Given the description of an element on the screen output the (x, y) to click on. 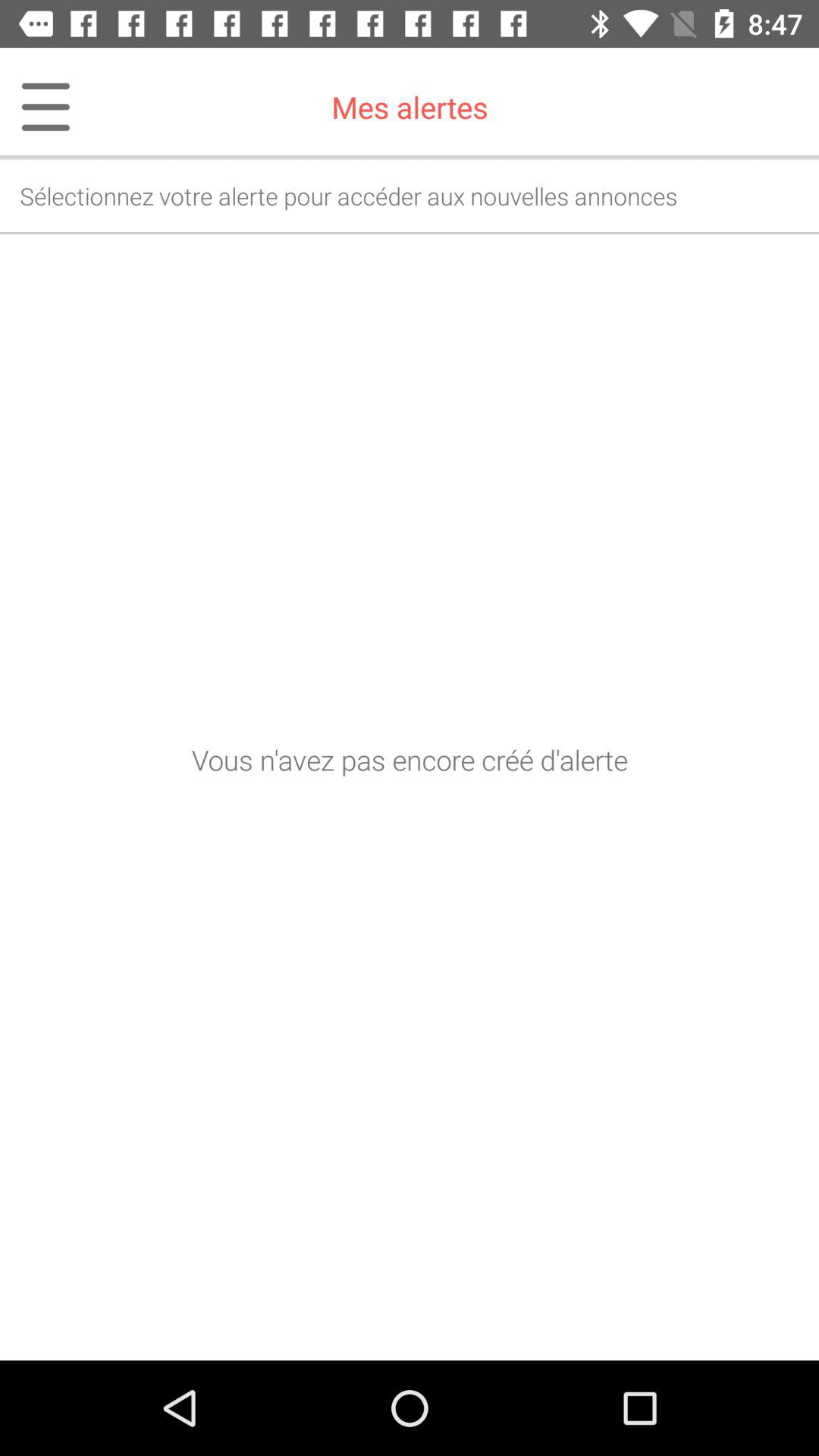
click the item above the vous n avez icon (35, 106)
